Given the description of an element on the screen output the (x, y) to click on. 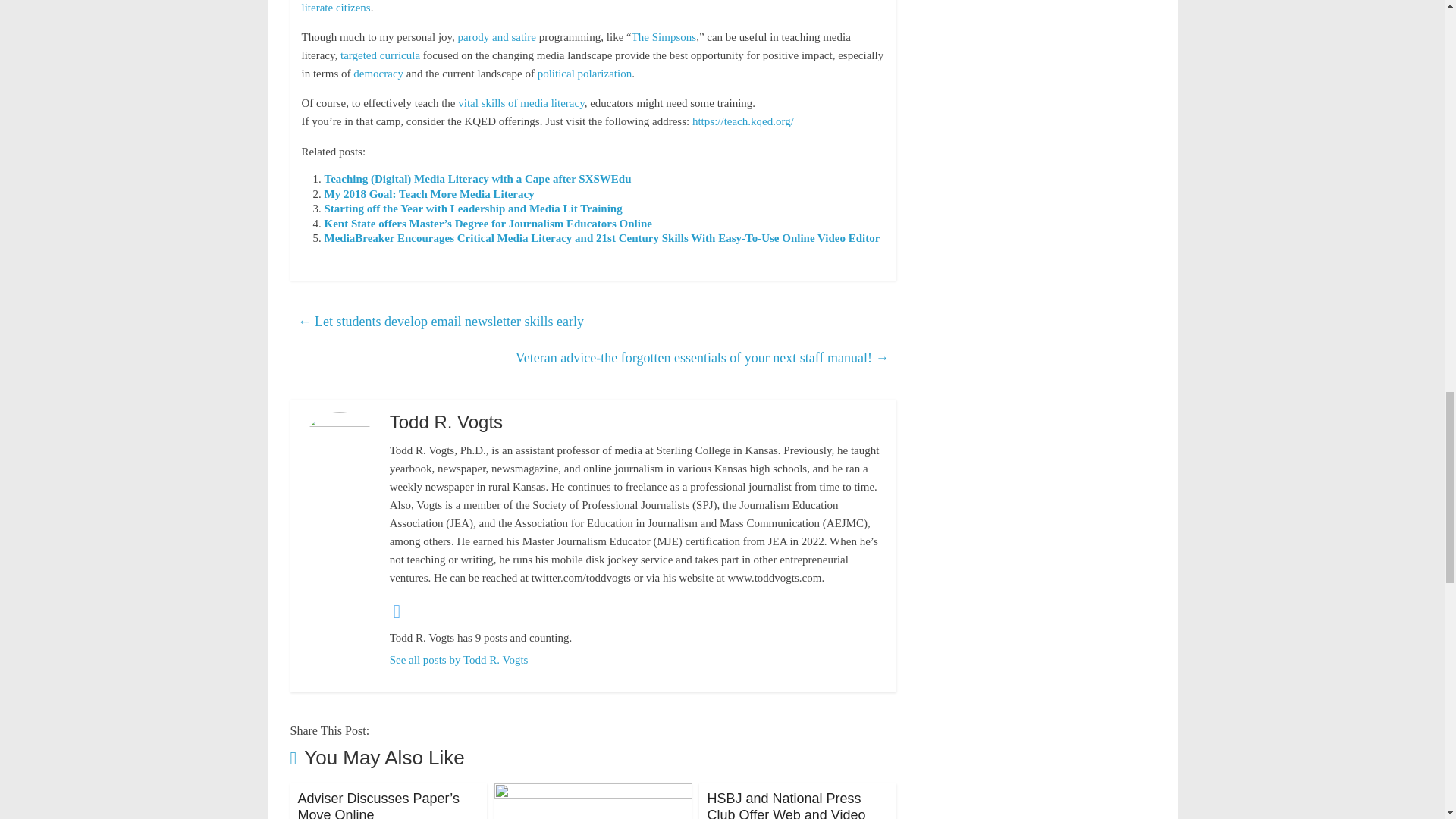
Starting off the Year with Leadership and Media Lit Training (473, 208)
My 2018 Goal:  Teach More Media Literacy (429, 193)
